Given the description of an element on the screen output the (x, y) to click on. 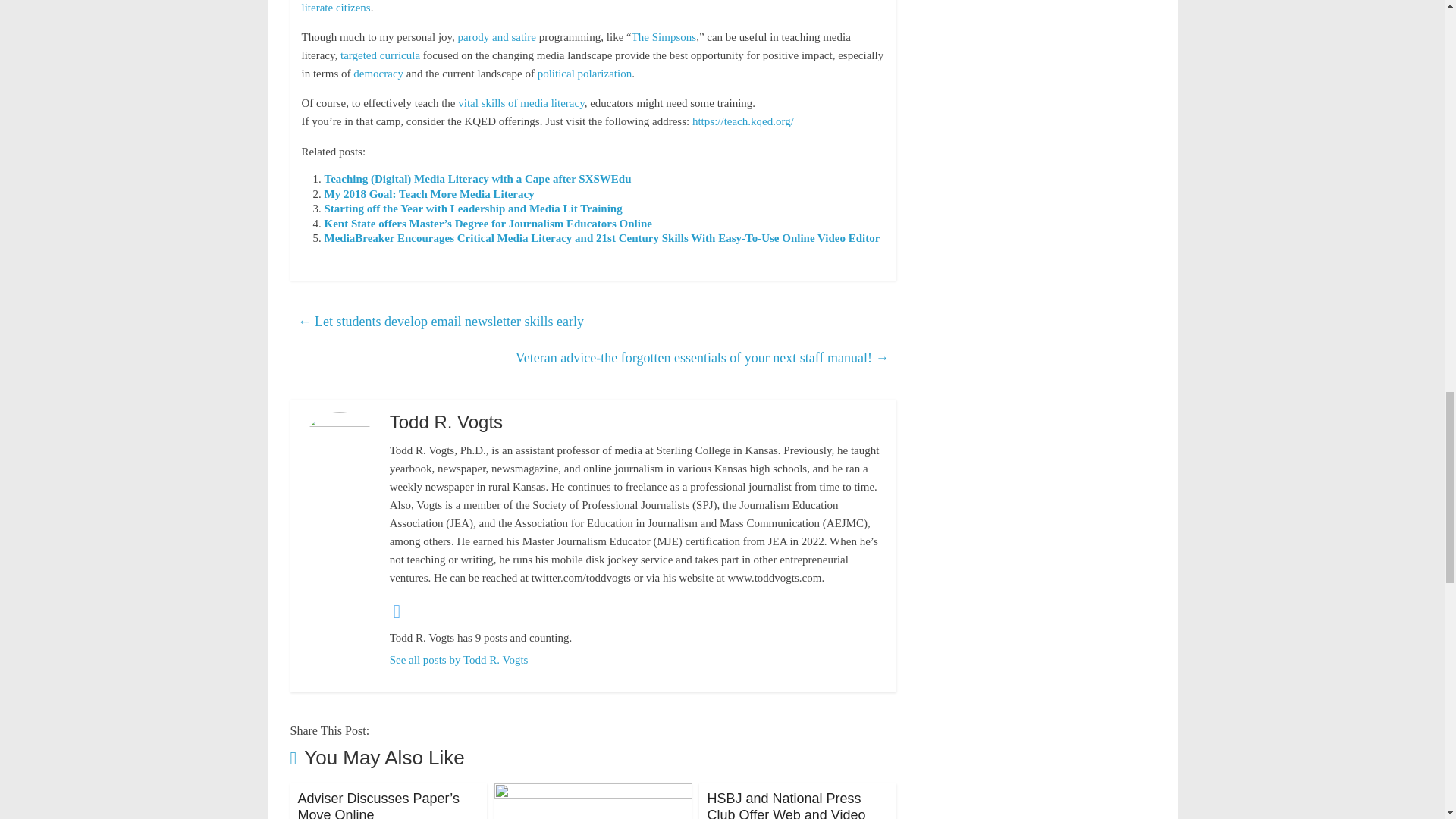
Starting off the Year with Leadership and Media Lit Training (473, 208)
My 2018 Goal:  Teach More Media Literacy (429, 193)
